Given the description of an element on the screen output the (x, y) to click on. 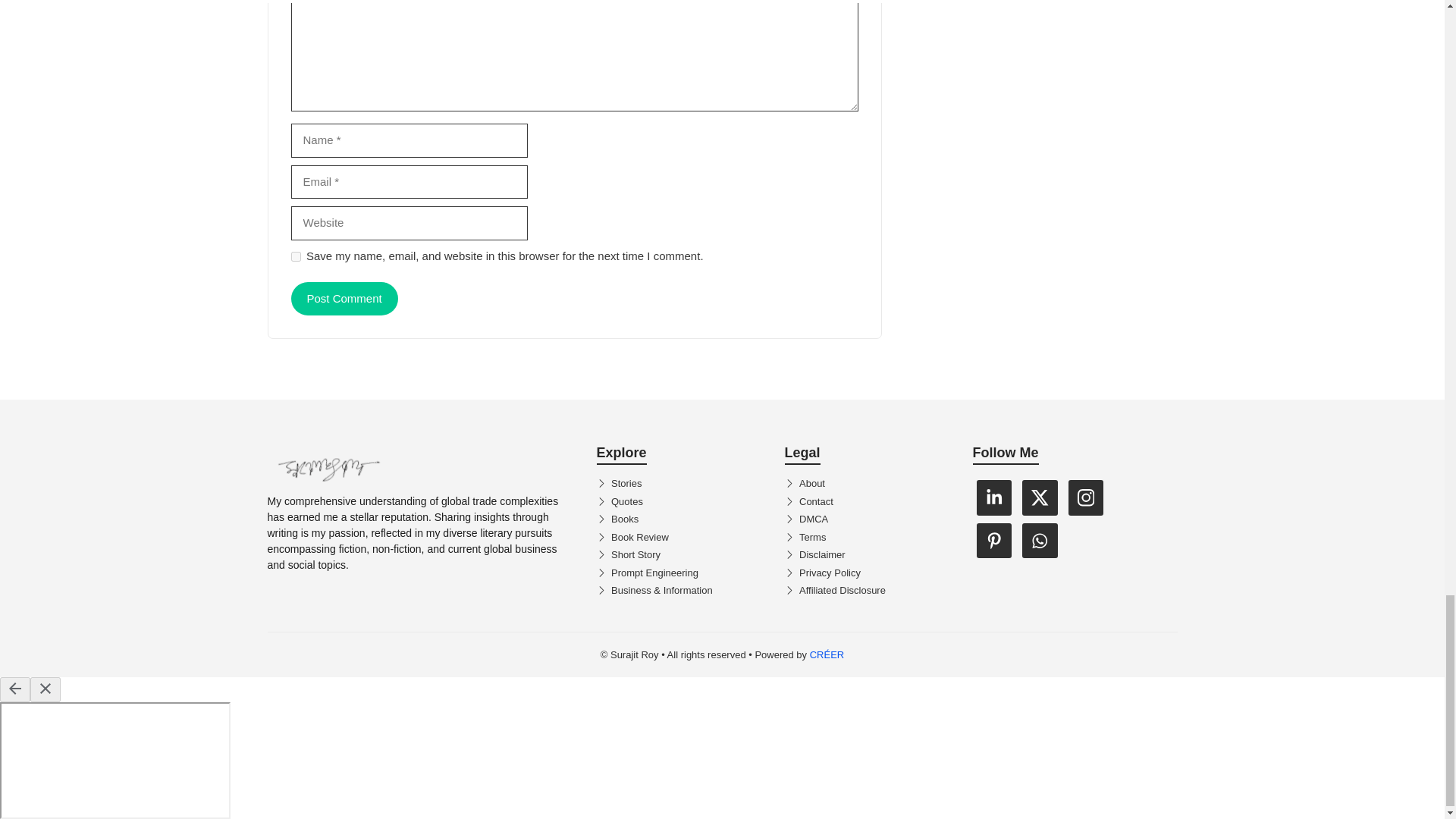
Post Comment (344, 298)
Post Comment (344, 298)
Surajit-Roy-Logo (327, 465)
yes (296, 256)
